Given the description of an element on the screen output the (x, y) to click on. 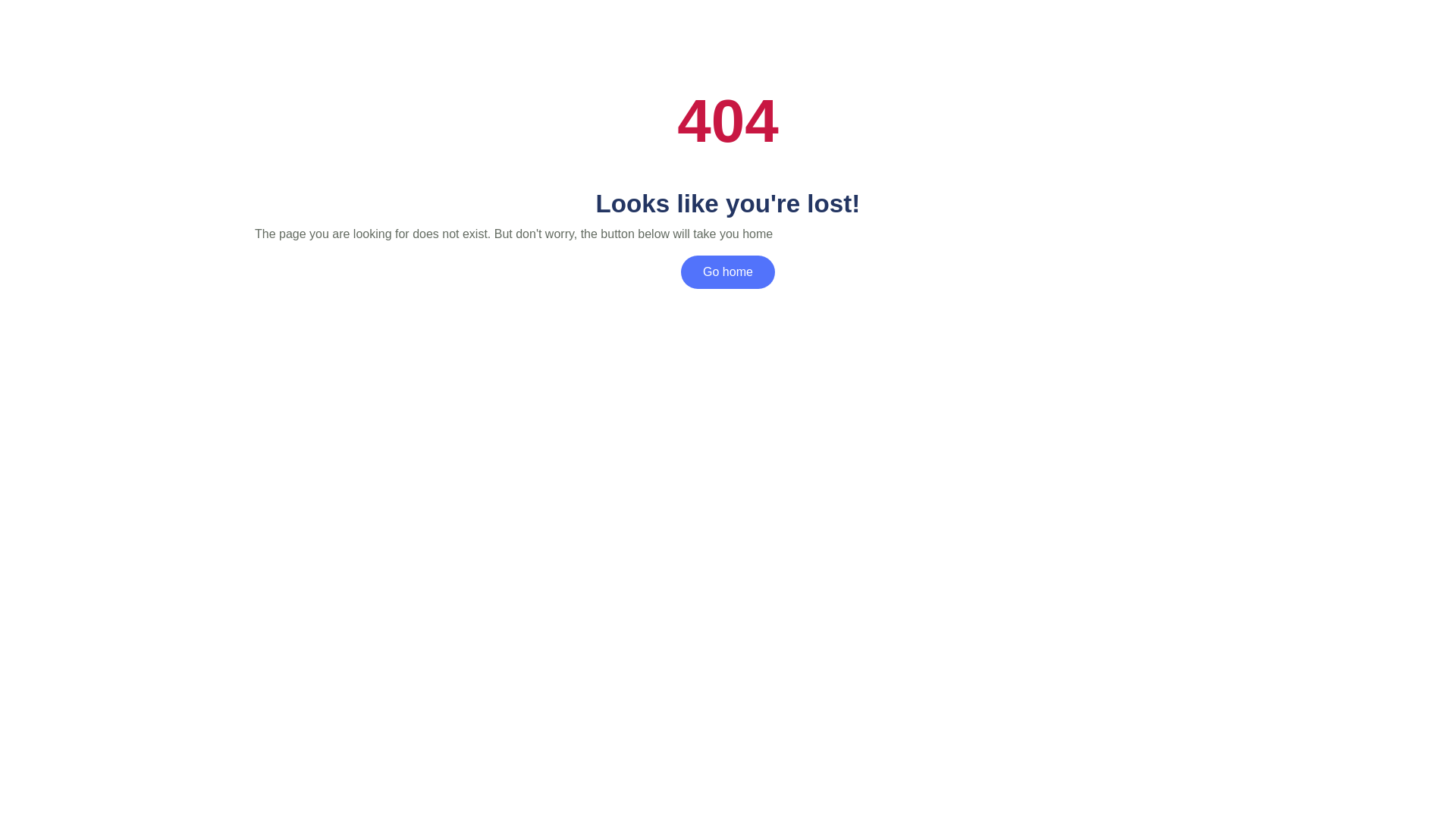
Go home Element type: text (727, 271)
